Given the description of an element on the screen output the (x, y) to click on. 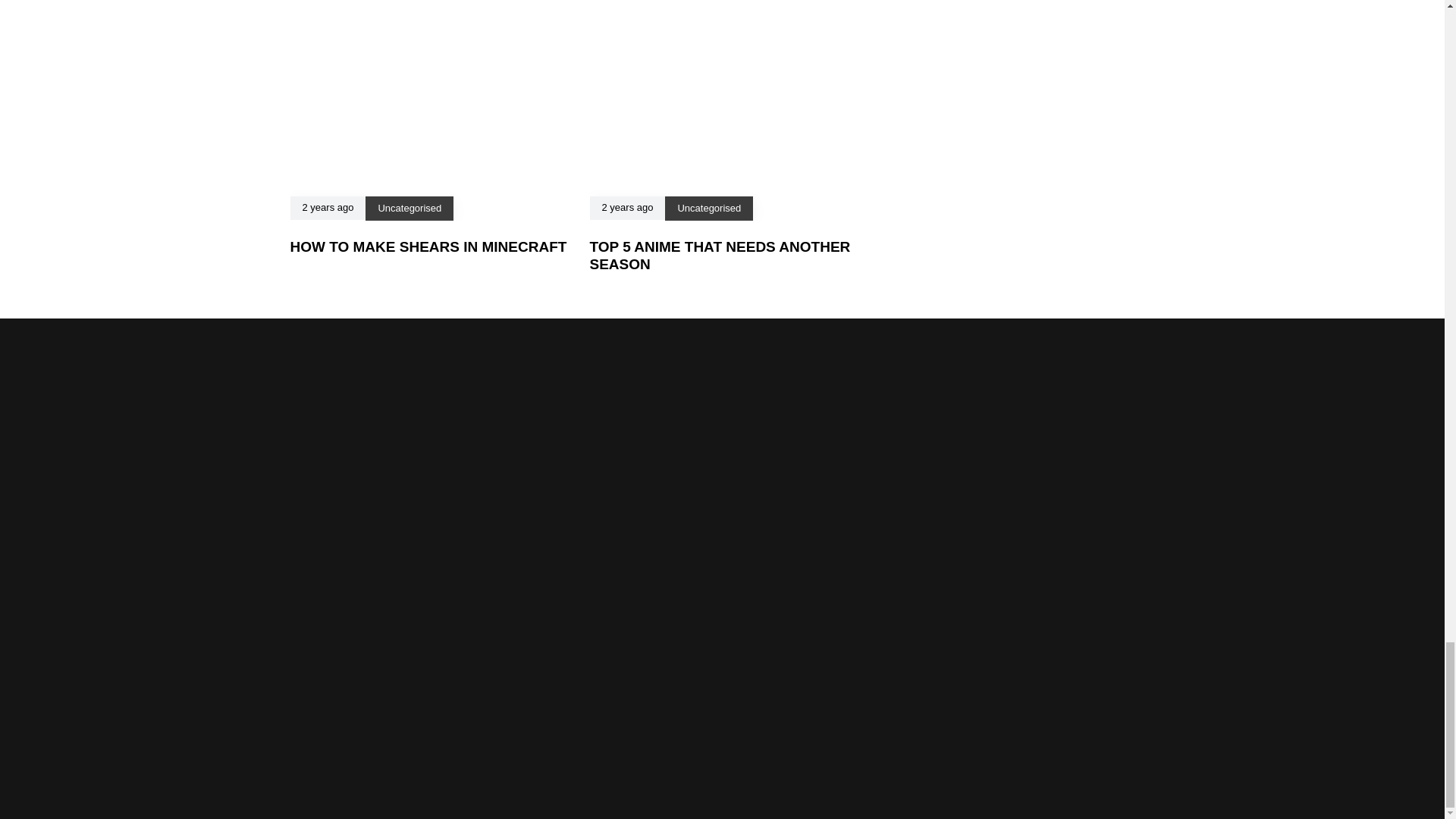
HOW TO MAKE SHEARS IN MINECRAFT (427, 246)
TOP 5 ANIME THAT NEEDS ANOTHER SEASON (719, 255)
Uncategorised (409, 207)
Uncategorised (709, 207)
